Given the description of an element on the screen output the (x, y) to click on. 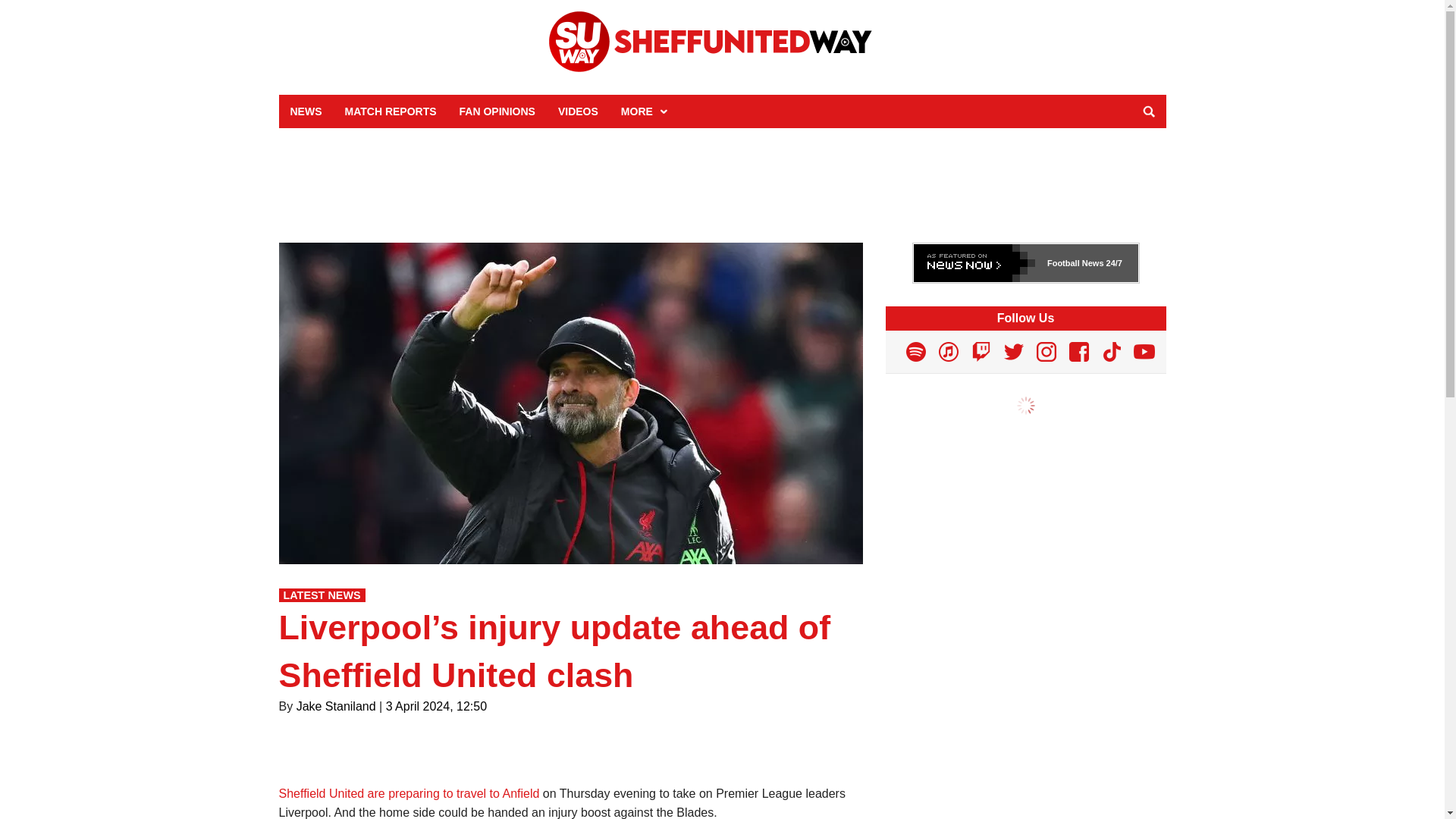
MATCH REPORTS (390, 111)
NEWS (306, 111)
Jake Staniland (336, 706)
Latest Latest News News (322, 594)
MORE (642, 111)
Sheffield United are preparing to travel to Anfield (409, 793)
FAN OPINIONS (497, 111)
VIDEOS (578, 111)
Search (1147, 111)
3 April 2024, 12:50 (435, 706)
